Given the description of an element on the screen output the (x, y) to click on. 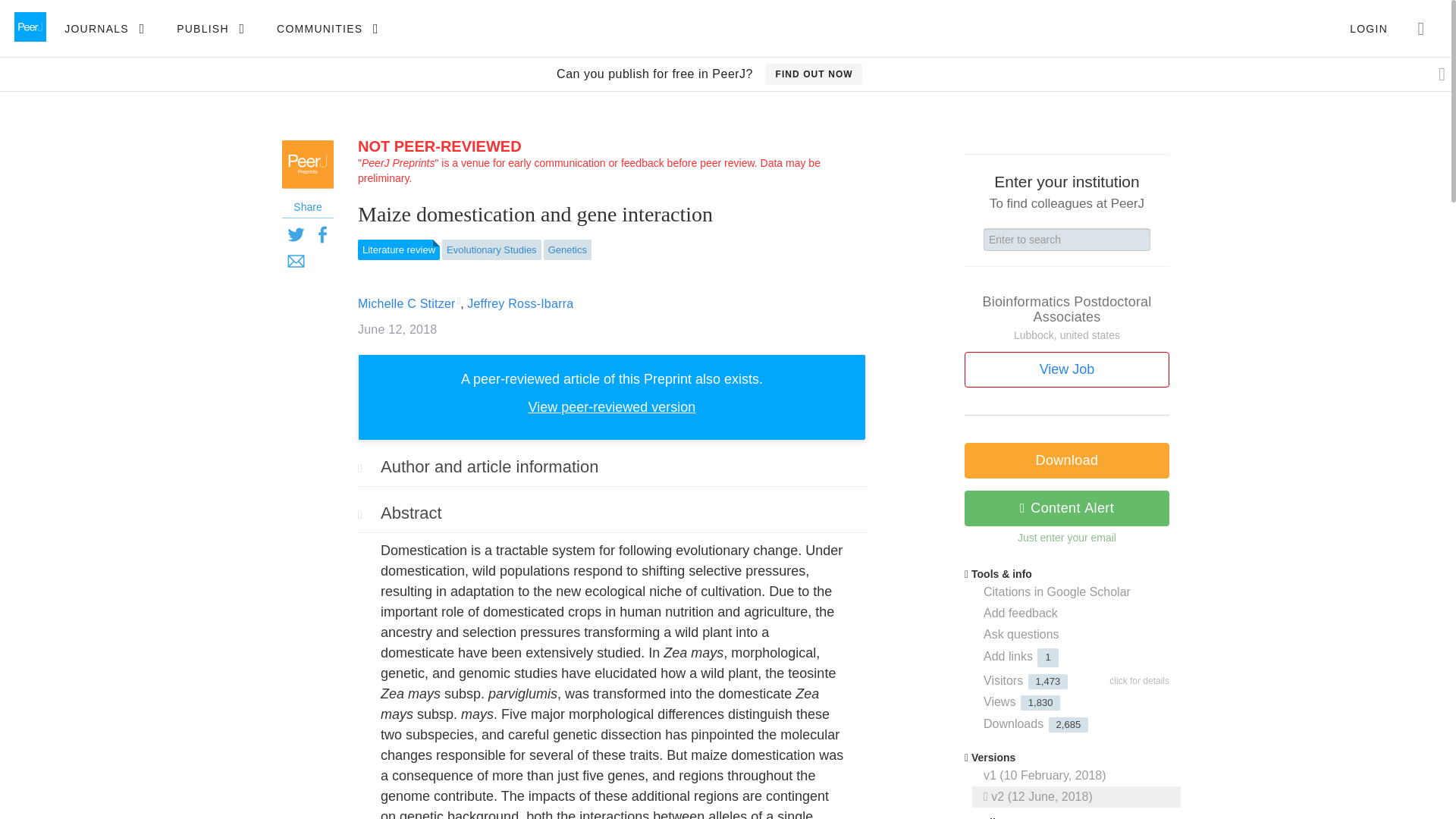
Michelle C Stitzer (406, 303)
Evolutionary Studies (491, 249)
Jeffrey Ross-Ibarra (520, 303)
View peer-reviewed version (611, 406)
Facebook (321, 234)
Literature review (398, 249)
X (295, 234)
Genetics (567, 249)
Email (295, 260)
